Given the description of an element on the screen output the (x, y) to click on. 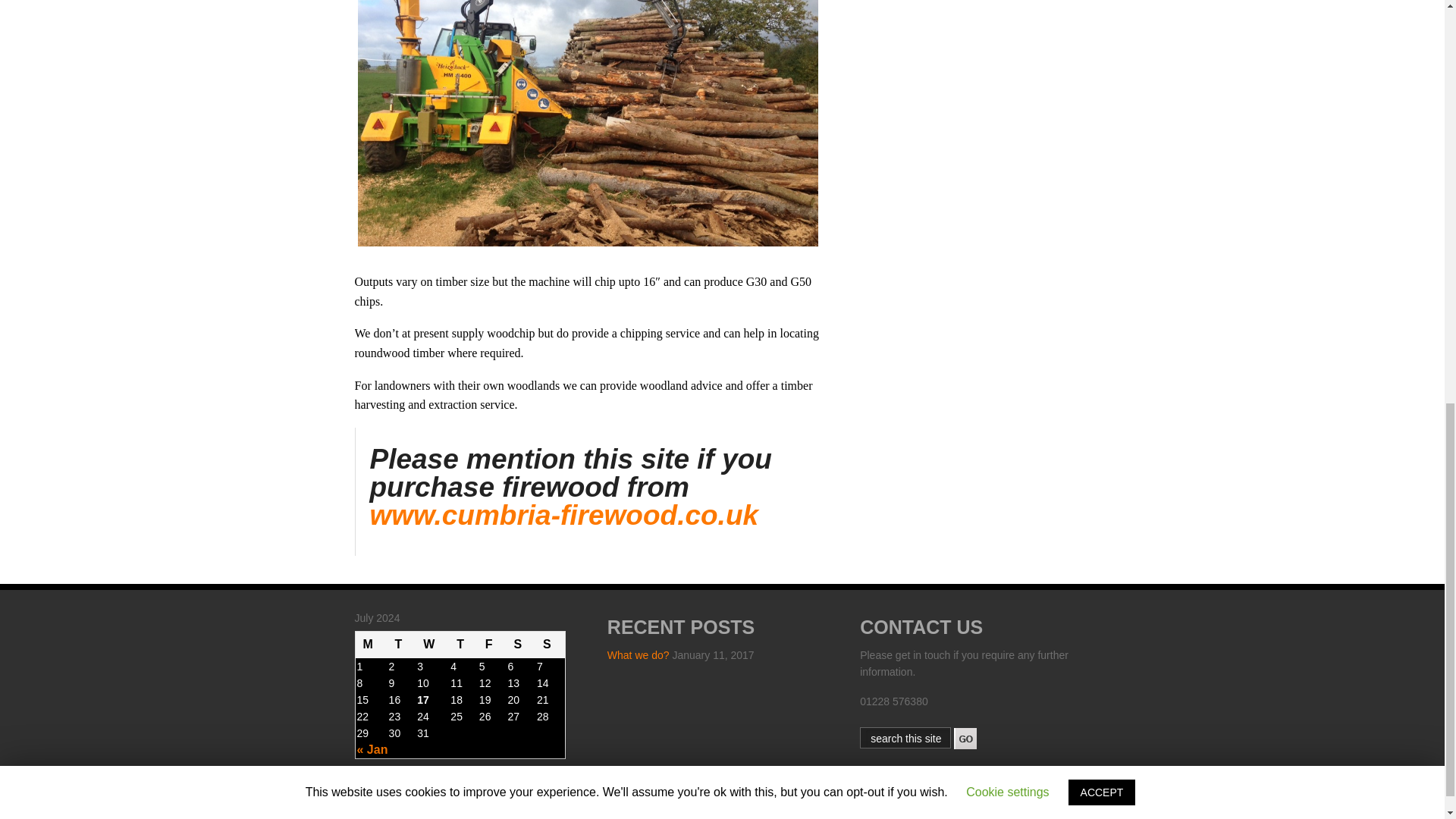
Sunday (549, 644)
What we do? (638, 654)
Friday (491, 644)
Cumbria Firewood (563, 514)
Tuesday (401, 644)
Saturday (520, 644)
Thursday (462, 644)
search this site (907, 738)
WordPress (657, 817)
Monday (371, 644)
www.cumbria-firewood.co.uk (563, 514)
antthemes (806, 817)
Wednesday (431, 644)
